Given the description of an element on the screen output the (x, y) to click on. 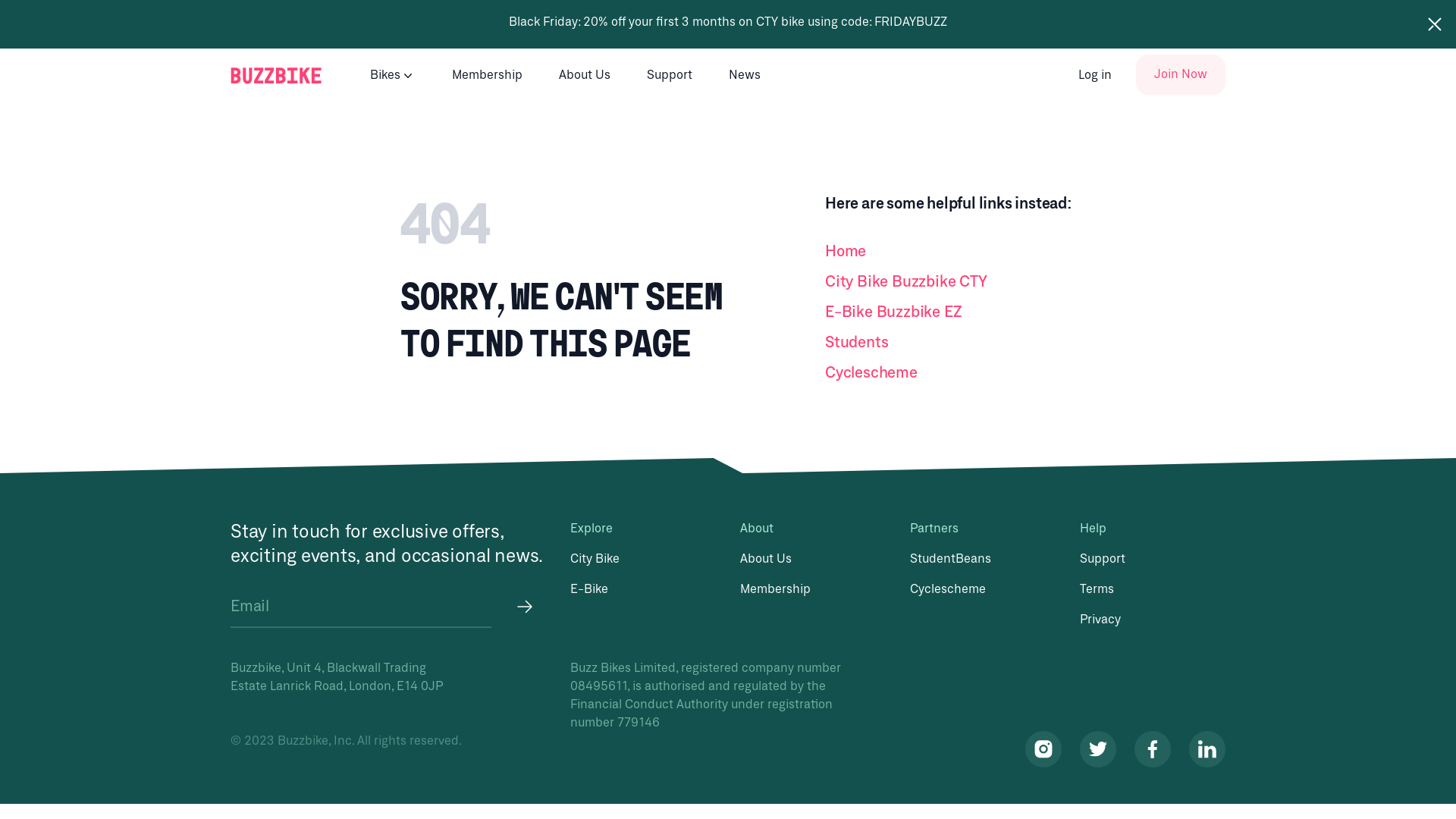
Facebook Element type: text (1152, 749)
Log in Element type: text (1094, 74)
About Us Element type: text (584, 74)
Cyclescheme Element type: text (947, 587)
Home Element type: text (982, 251)
Cyclescheme Element type: text (982, 372)
Linkedin Element type: text (1207, 749)
Privacy Element type: text (1099, 618)
Terms Element type: text (1096, 587)
E-Bike Buzzbike EZ Element type: text (982, 312)
About Us Element type: text (765, 557)
E-Bike Element type: text (589, 587)
City Bike Element type: text (594, 557)
Membership Element type: text (486, 74)
Instagram Element type: text (1043, 749)
Students Element type: text (982, 342)
News Element type: text (744, 74)
Join Now Element type: text (1180, 74)
Twitter Element type: text (1097, 749)
Support Element type: text (669, 74)
Homepage Element type: hover (275, 74)
Support Element type: text (1102, 557)
StudentBeans Element type: text (950, 557)
City Bike Buzzbike CTY Element type: text (982, 281)
Membership Element type: text (775, 587)
